Given the description of an element on the screen output the (x, y) to click on. 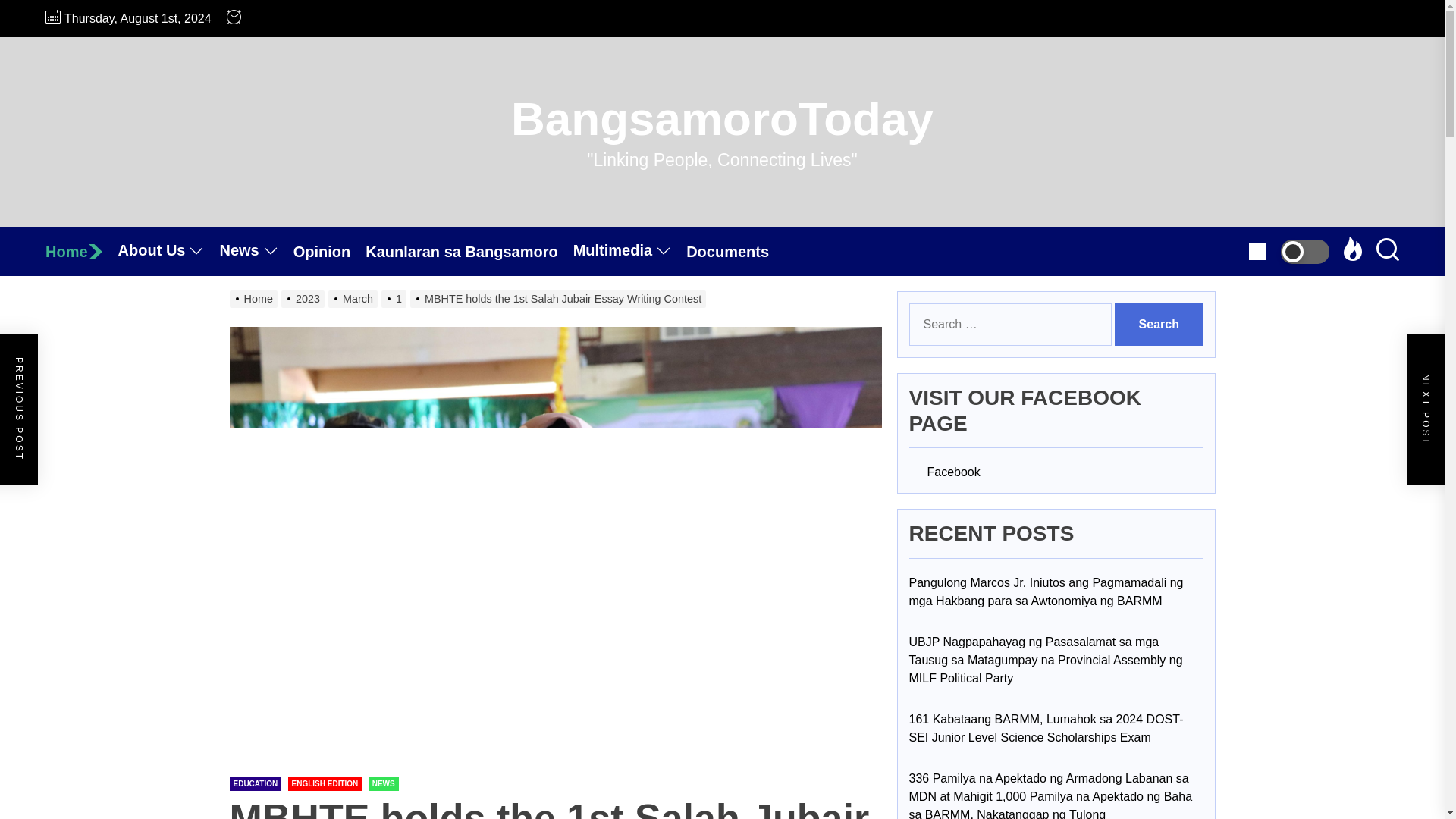
Opinion (330, 251)
Home (81, 251)
About Us (168, 251)
Documents (734, 251)
Kaunlaran sa Bangsamoro (468, 251)
Search (1158, 324)
Multimedia (629, 251)
News (255, 251)
BangsamoroToday (722, 118)
Search (1158, 324)
Home (81, 251)
